Given the description of an element on the screen output the (x, y) to click on. 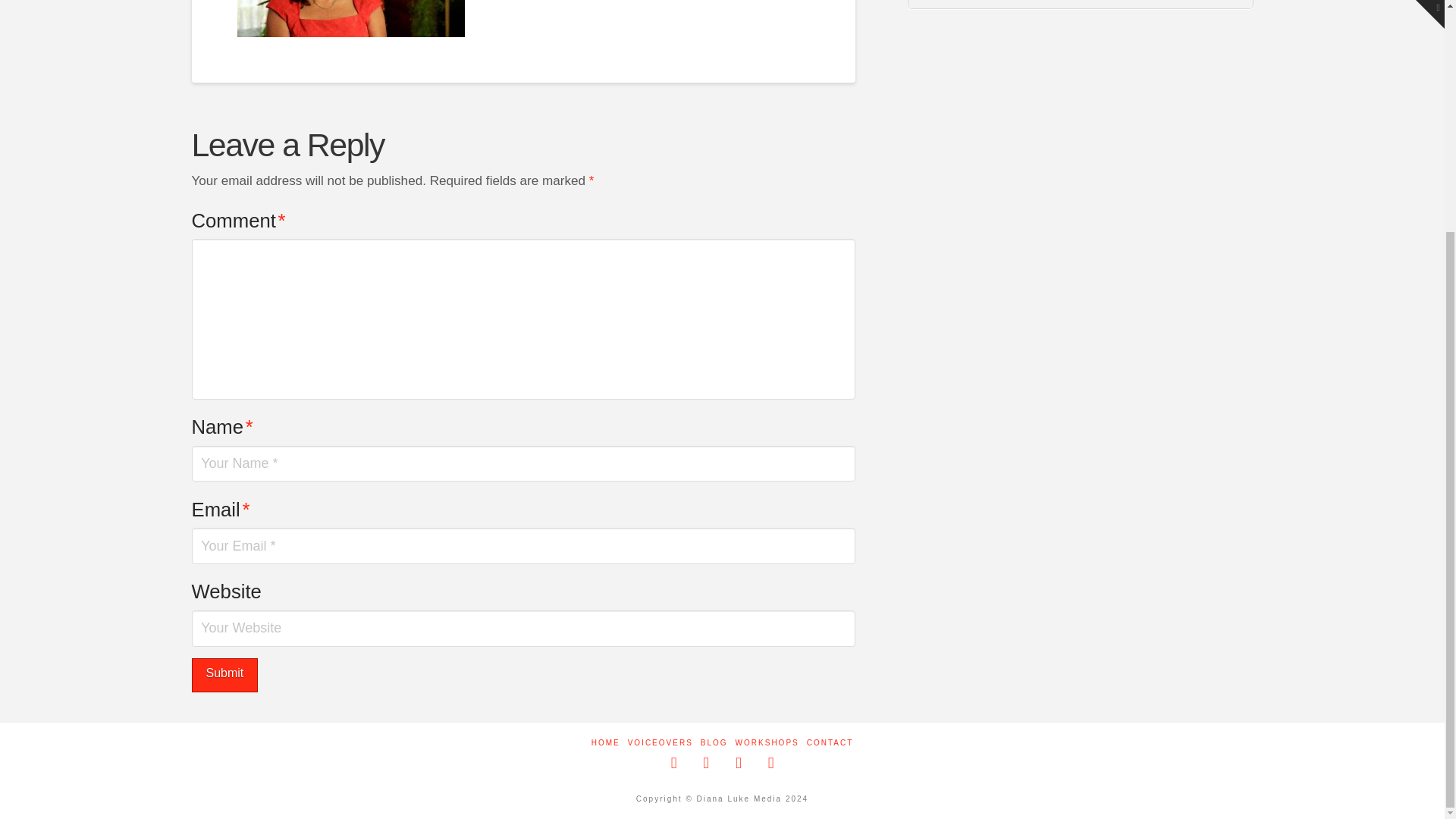
WordPress.org (1080, 4)
Submit (223, 675)
HOME (605, 742)
VOICEOVERS (660, 742)
WORKSHOPS (767, 742)
Submit (223, 675)
CONTACT (829, 742)
BLOG (714, 742)
